Given the description of an element on the screen output the (x, y) to click on. 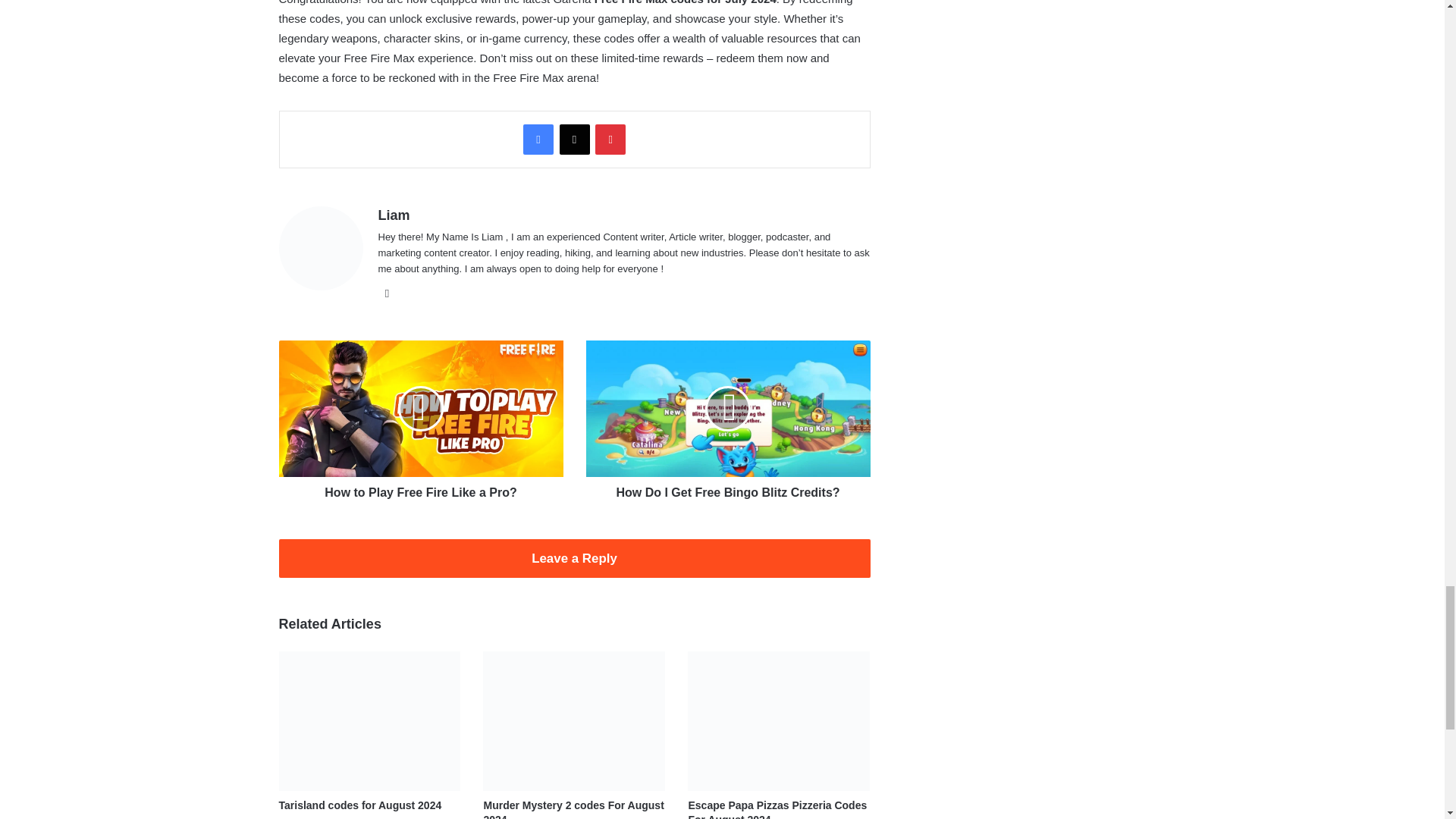
Liam (393, 215)
X (574, 139)
Facebook (537, 139)
X (574, 139)
Pinterest (610, 139)
Facebook (537, 139)
Website (386, 293)
How to Play Free Fire Like a Pro? (421, 488)
